Given the description of an element on the screen output the (x, y) to click on. 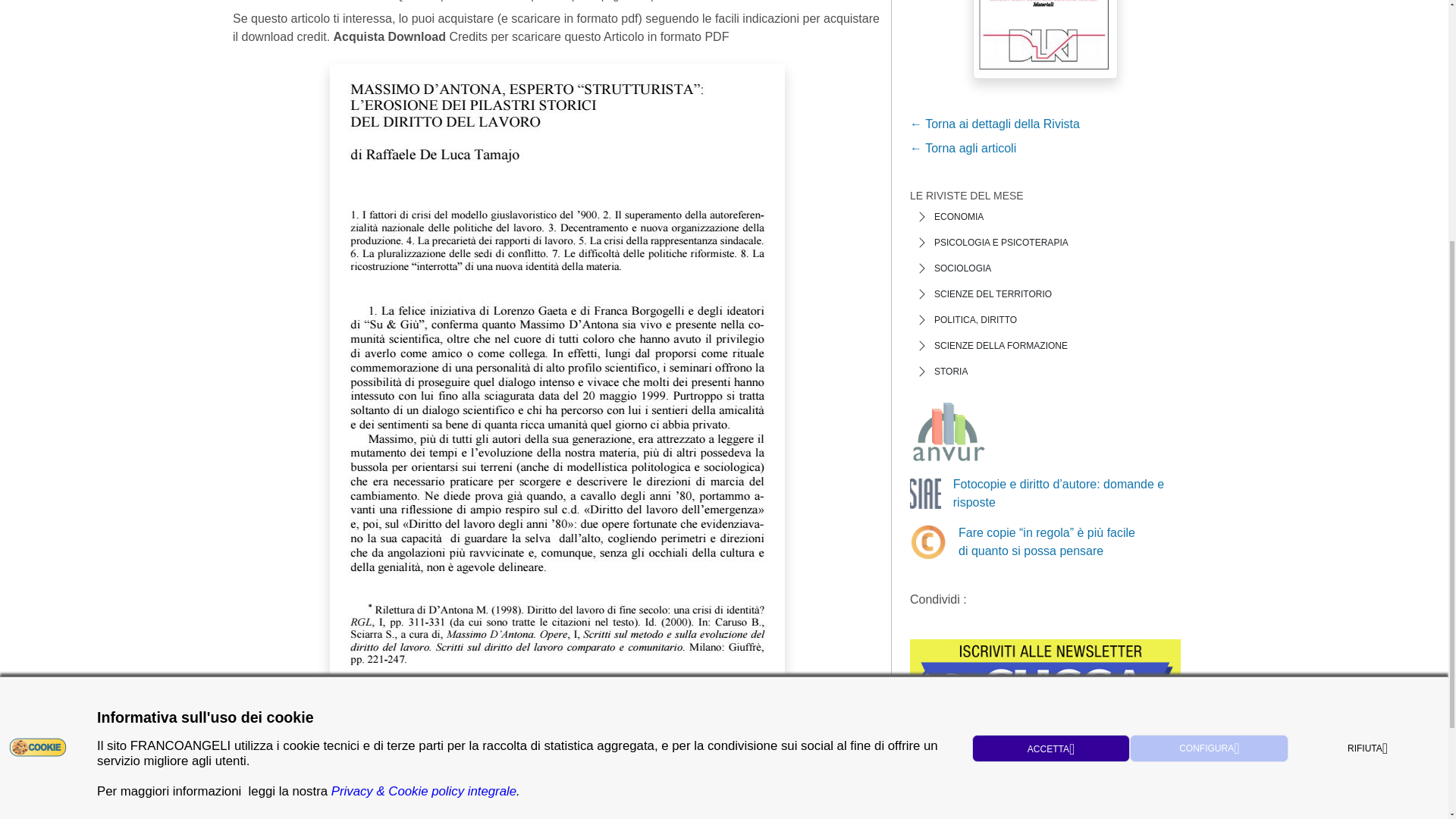
CookieMan BY ML informatica (37, 352)
